Given the description of an element on the screen output the (x, y) to click on. 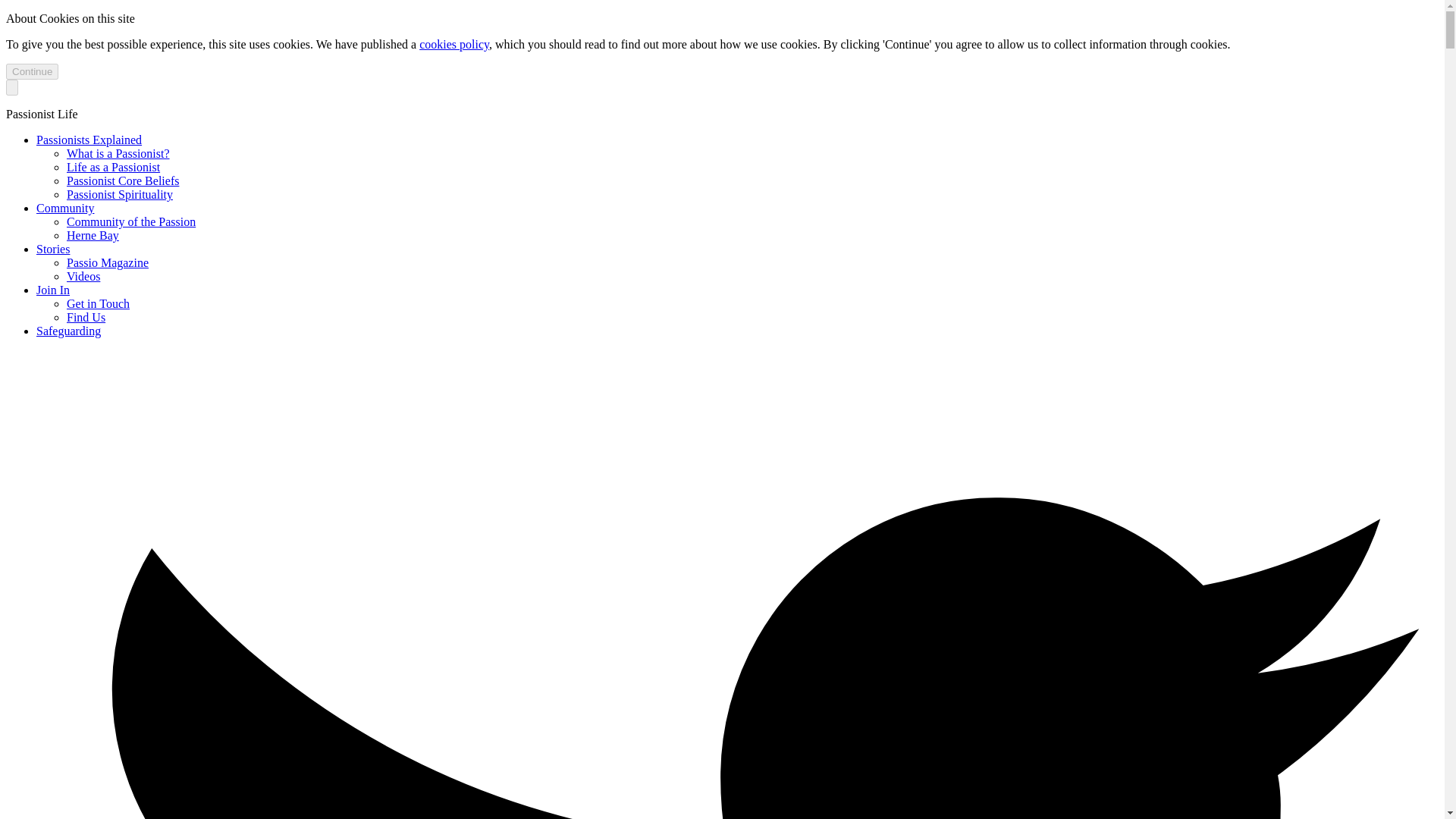
Herne Bay (92, 235)
Passionist Spirituality (119, 194)
Safeguarding (68, 330)
Herne Bay (92, 235)
Get in Touch (97, 303)
Community (65, 207)
Find Us (85, 317)
Passionist Spirituality (119, 194)
Videos (83, 276)
Get in Touch (97, 303)
Life as a Passionist (113, 166)
Join In (52, 289)
Join In (52, 289)
Passionists Explained (88, 139)
What is a Passionist? (118, 153)
